Given the description of an element on the screen output the (x, y) to click on. 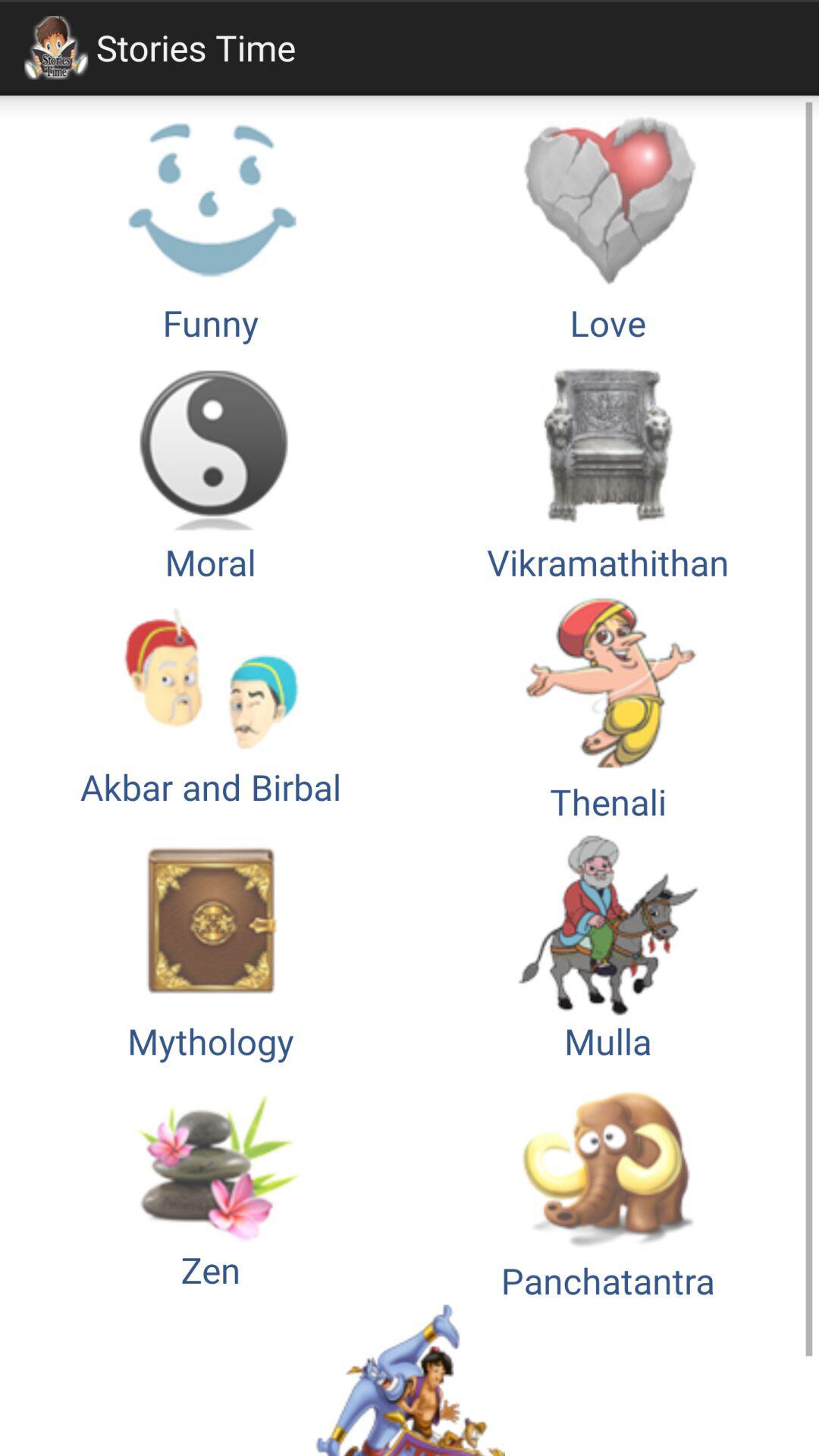
tap icon below the mythology button (608, 1184)
